Given the description of an element on the screen output the (x, y) to click on. 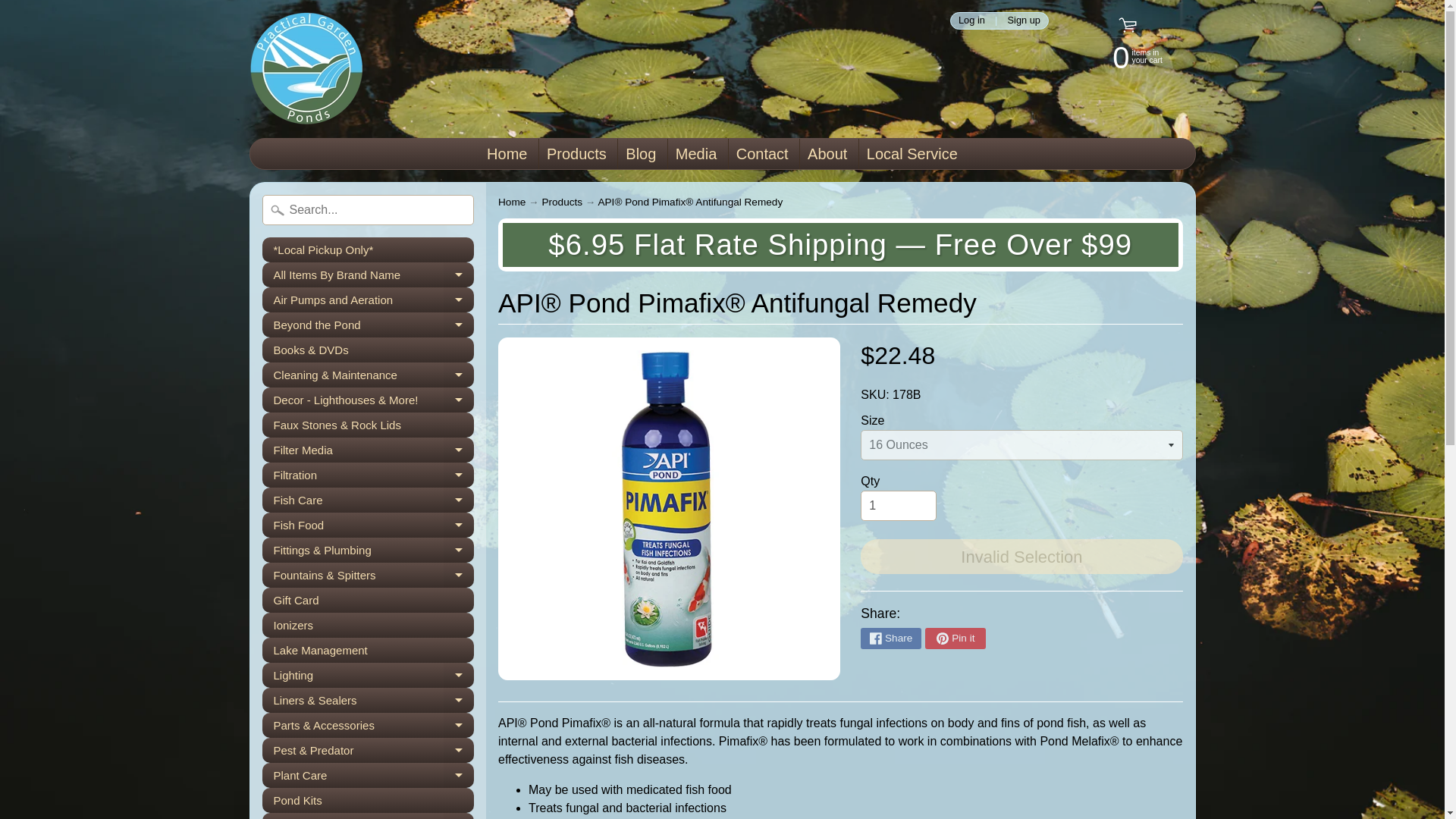
Back to the home page (368, 274)
Local Service (511, 202)
Pin on Pinterest (912, 153)
Products (954, 638)
Sign up (576, 153)
Log in (1024, 20)
About (1122, 56)
Practical Garden Ponds (970, 20)
